Given the description of an element on the screen output the (x, y) to click on. 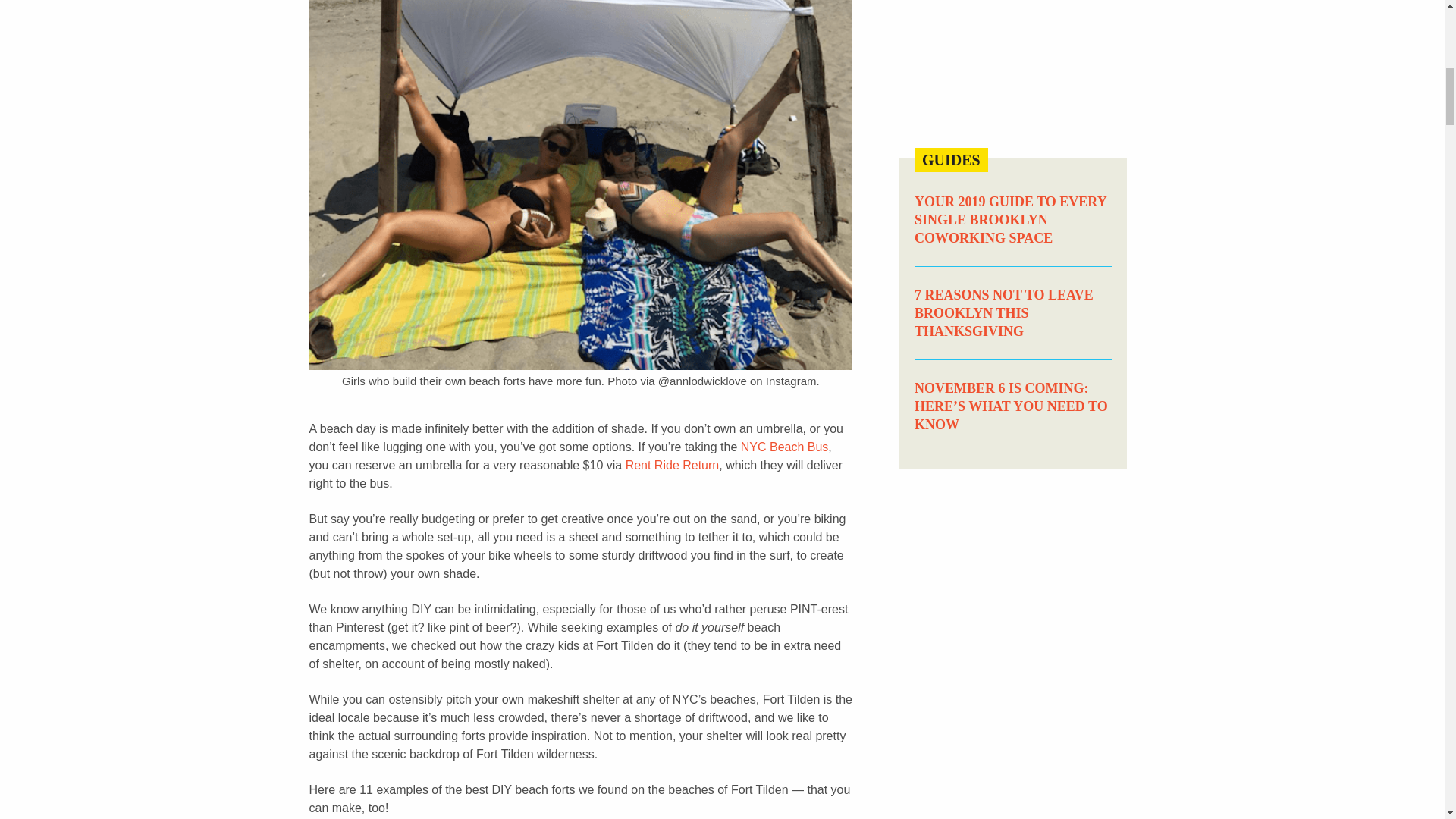
7 reasons not to leave Brooklyn this Thanksgiving (1003, 313)
3rd party ad content (1012, 67)
NYC Beach Bus (784, 446)
Your 2019 guide to every single Brooklyn coworking space (1010, 219)
Rent Ride Return (672, 464)
